Given the description of an element on the screen output the (x, y) to click on. 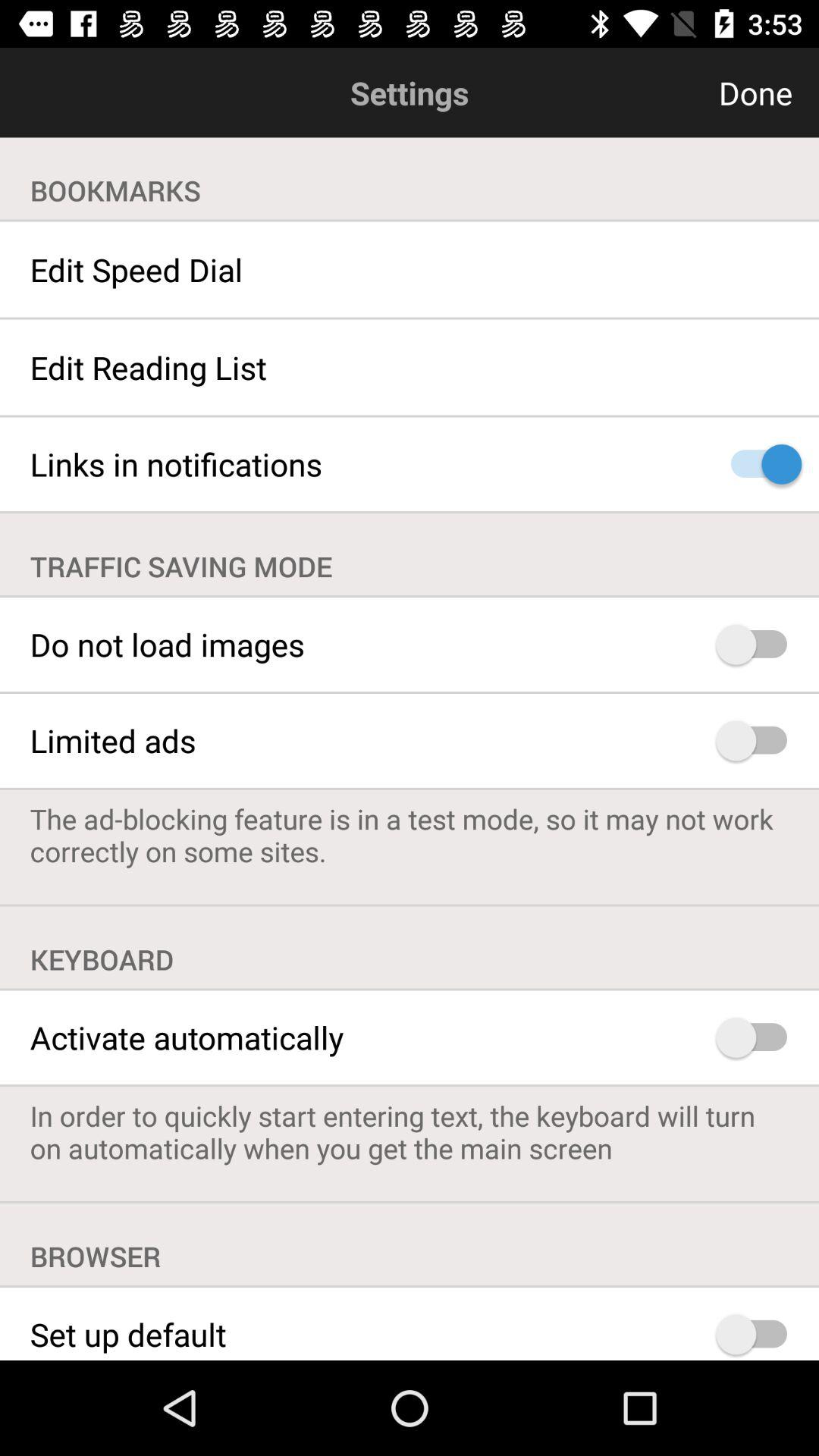
toggle limited advertisements (758, 740)
